Given the description of an element on the screen output the (x, y) to click on. 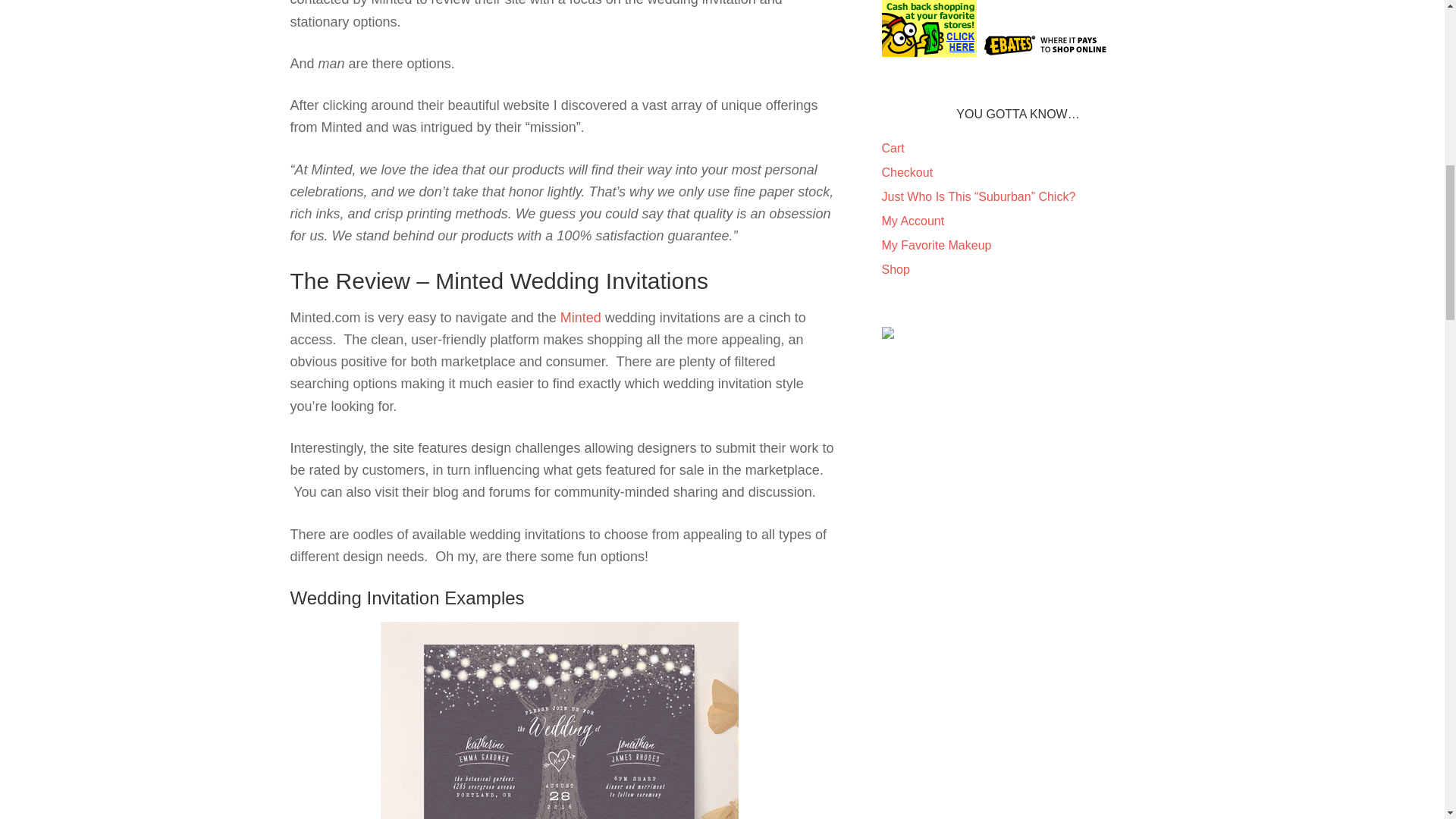
Cart (892, 147)
Minted.com (582, 316)
Checkout (906, 172)
Minted  (582, 316)
